Given the description of an element on the screen output the (x, y) to click on. 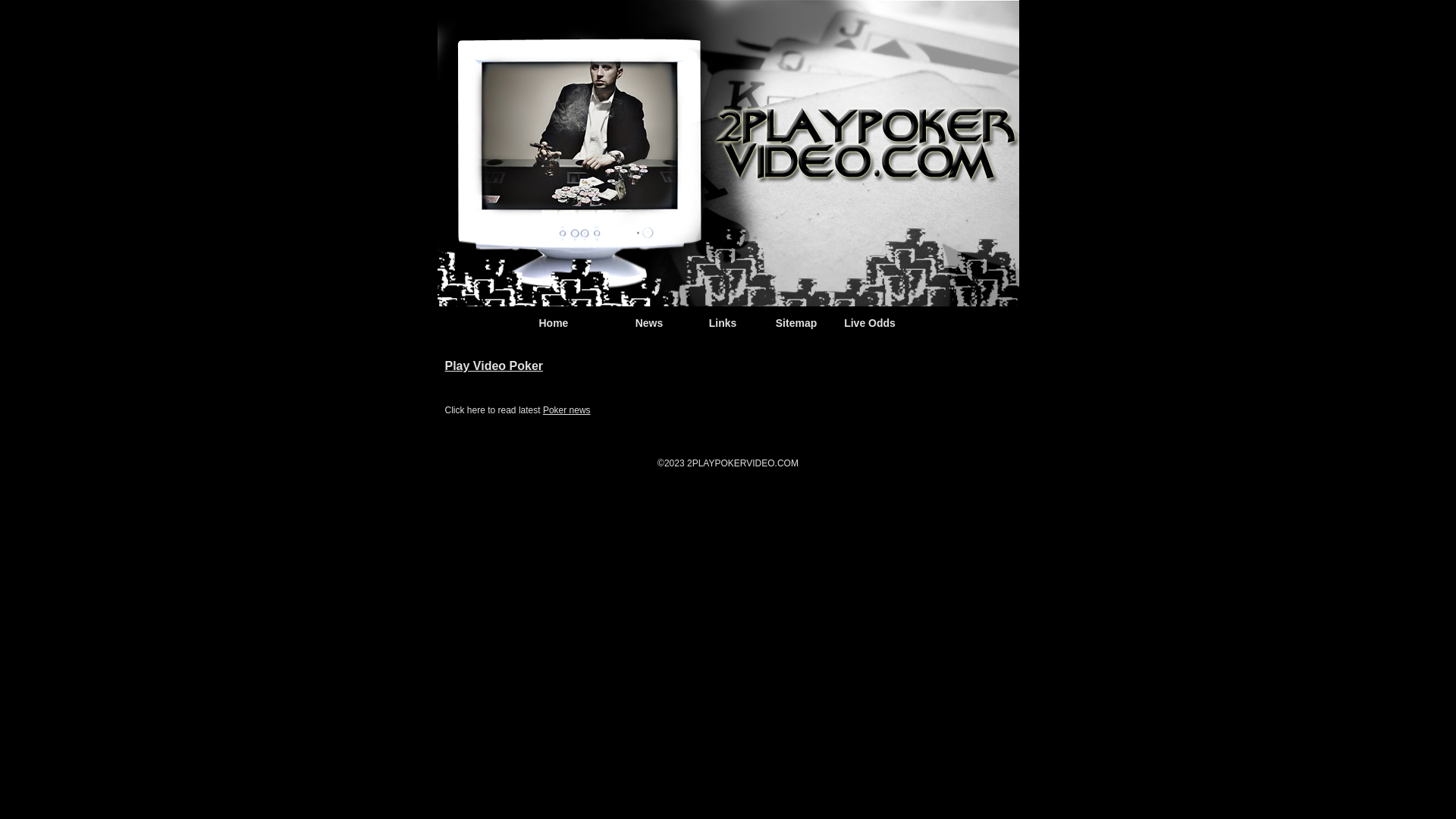
Sitemap Element type: text (795, 322)
News Element type: text (649, 322)
Poker news Element type: text (566, 409)
Live Odds Element type: text (869, 322)
Links Element type: text (723, 322)
Home Element type: text (552, 322)
Play Video Poker Element type: text (493, 365)
